Given the description of an element on the screen output the (x, y) to click on. 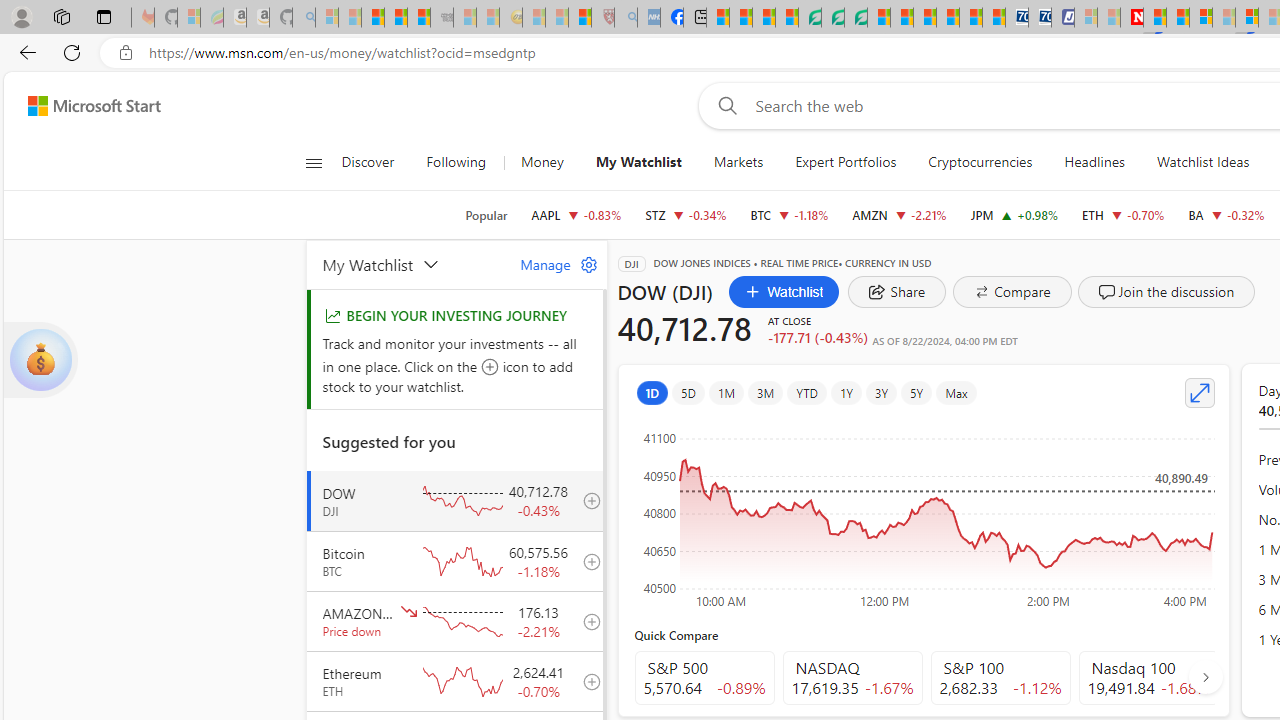
My Watchlist (637, 162)
Headlines (1094, 162)
BTC Bitcoin decrease 60,575.56 -716.61 -1.18% (789, 214)
Cheap Hotels - Save70.com (1039, 17)
1Y (845, 392)
5Y (917, 392)
AutomationID: finance_carousel_navi_right (1204, 677)
Cryptocurrencies (980, 162)
